Given the description of an element on the screen output the (x, y) to click on. 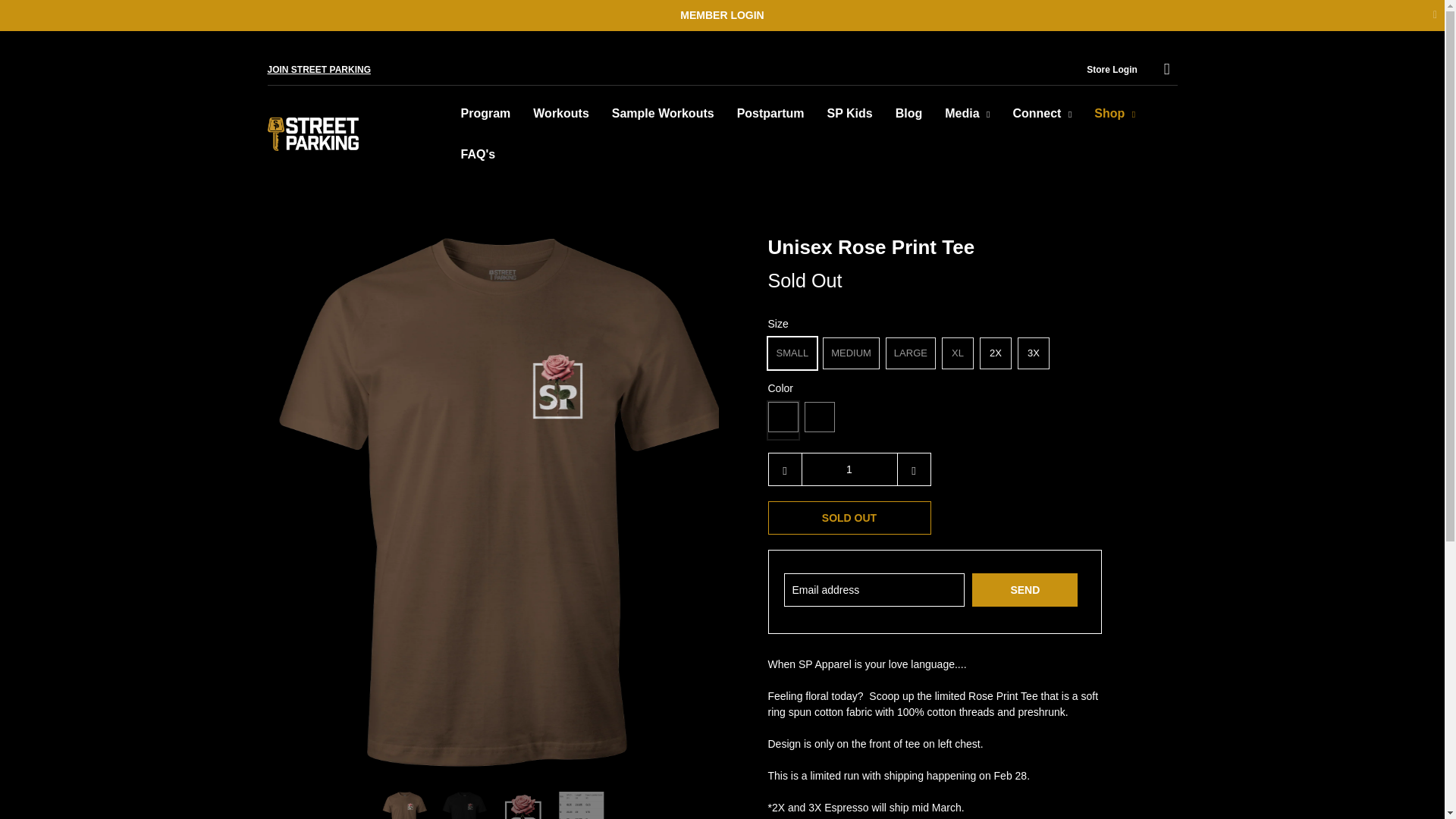
SP Kids (849, 113)
Postpartum (770, 113)
JOIN STREET PARKING (317, 69)
Blog (909, 113)
Shop (1114, 113)
My Account  (1111, 68)
1 (848, 469)
Media (967, 113)
Workouts (560, 113)
Send (1024, 589)
MEMBER LOGIN (721, 15)
Program (485, 113)
FAQ's (477, 154)
Store Login (1111, 68)
Translation missing: en.layout.general.title (1166, 69)
